Given the description of an element on the screen output the (x, y) to click on. 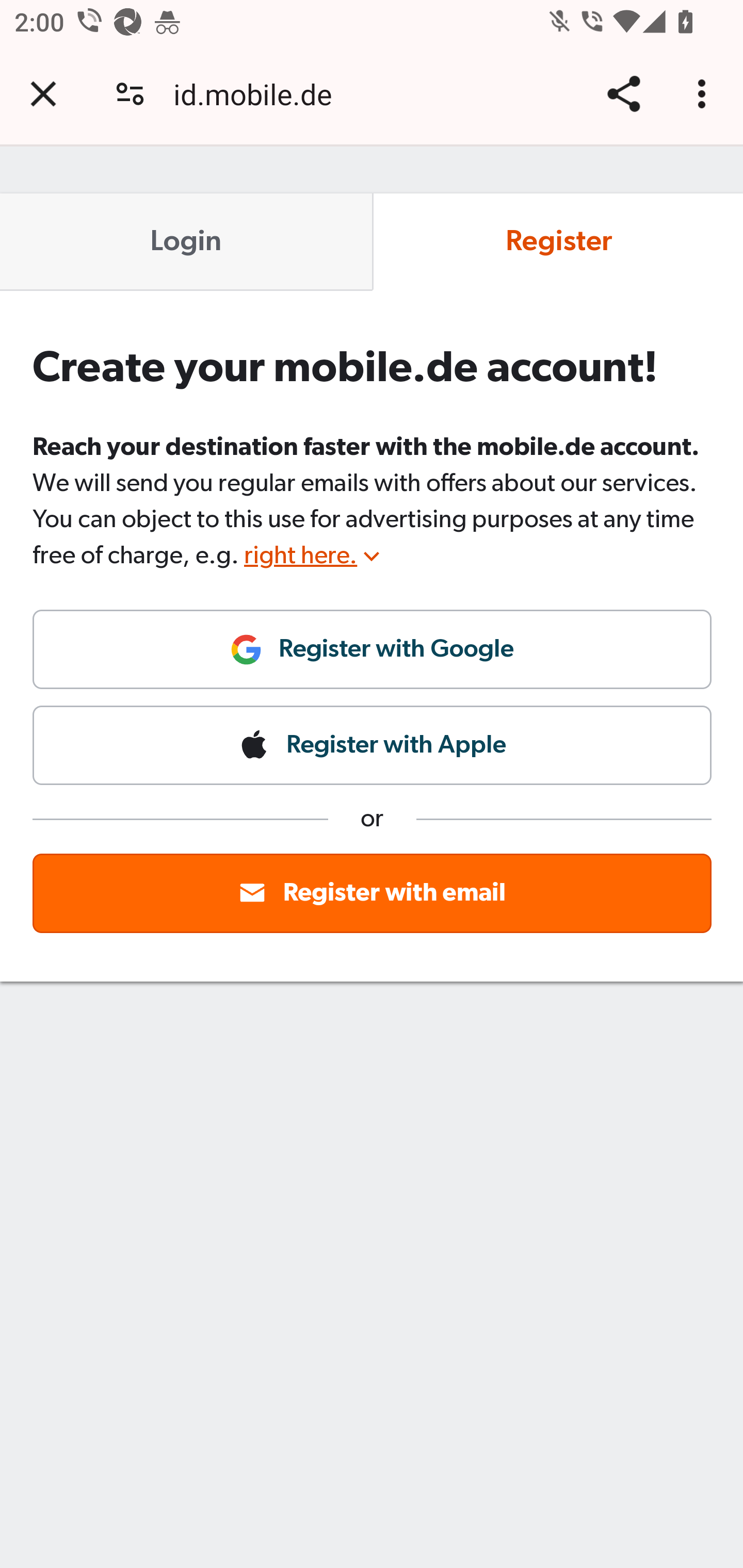
Close tab (43, 93)
Share (623, 93)
Customize and control Google Chrome (705, 93)
Connection is secure (129, 93)
id.mobile.de (259, 93)
Login (186, 242)
Register (557, 242)
Register with Google (372, 656)
Register with Apple (372, 744)
Register with email (372, 891)
